Given the description of an element on the screen output the (x, y) to click on. 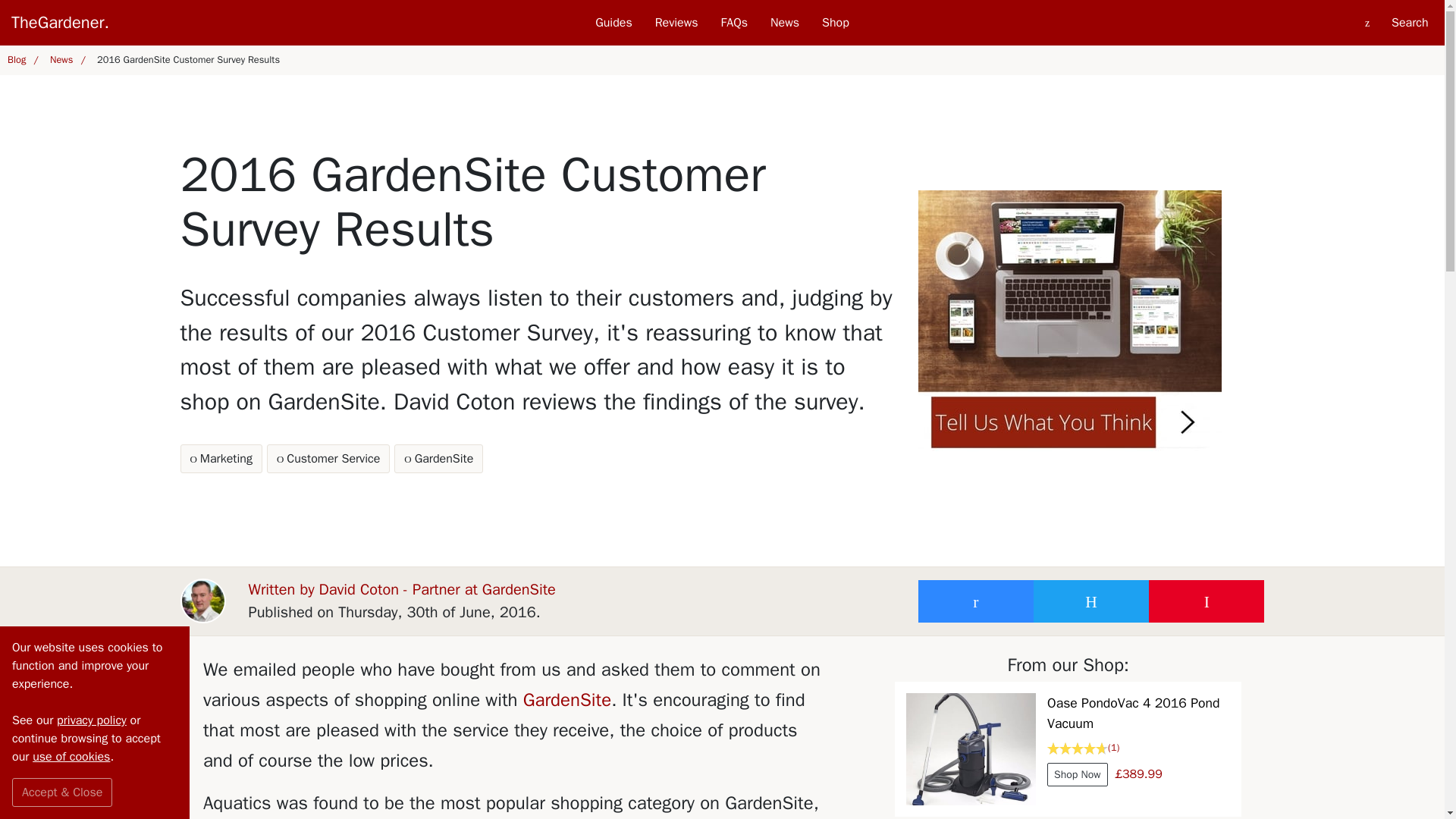
News (784, 22)
Marketing (221, 458)
Based on 1 reviews (1138, 748)
Guides (613, 22)
Customer Service (328, 458)
Reviews (676, 22)
Shop (835, 22)
TheGardener. (180, 23)
FAQs (534, 458)
